Given the description of an element on the screen output the (x, y) to click on. 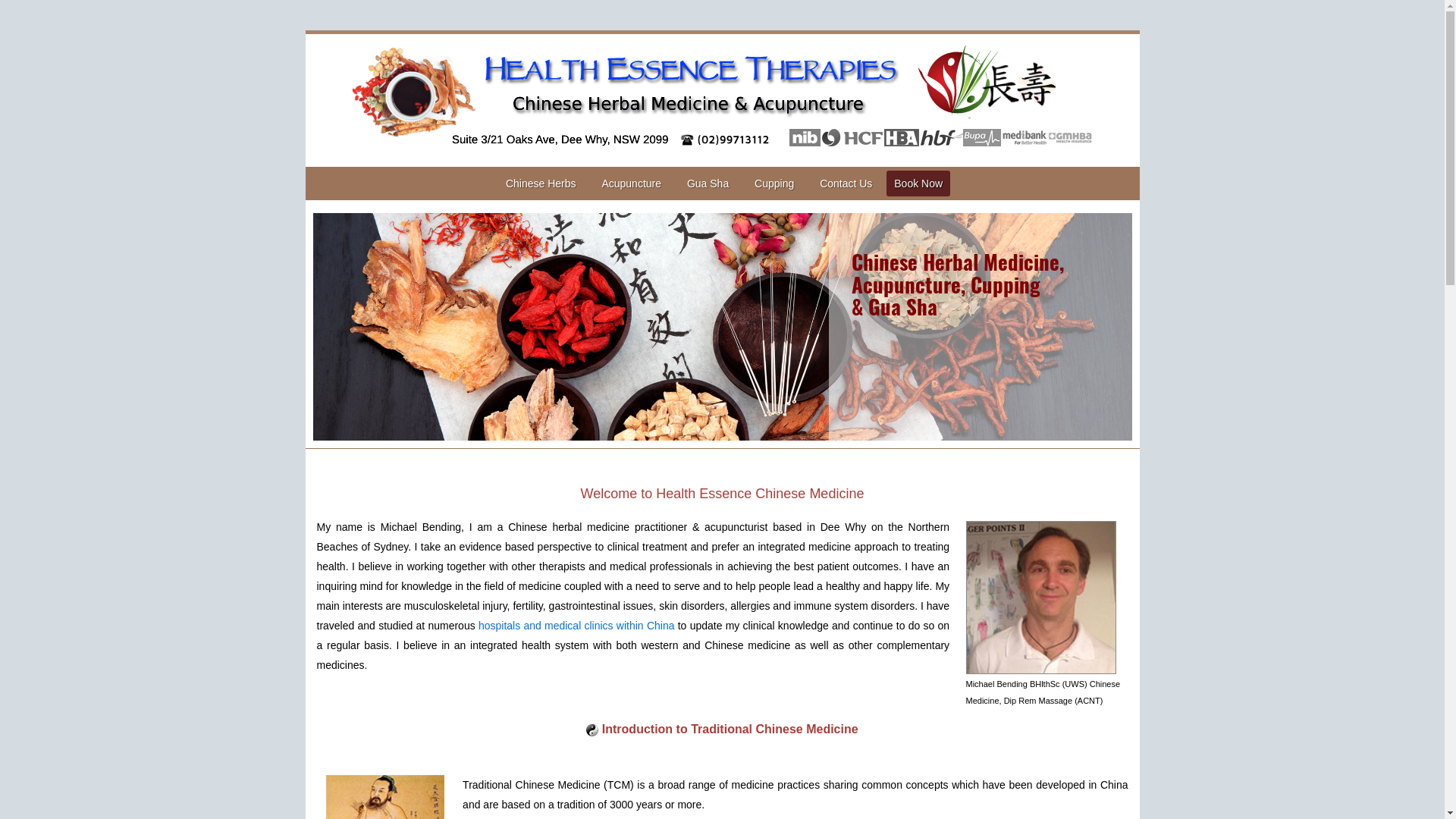
Acupuncture Element type: text (630, 183)
Gua Sha Element type: text (707, 183)
hospitals and medical clinics within China Element type: text (577, 625)
Book Now Element type: text (918, 183)
Health-essence.com.au homepage Element type: hover (721, 100)
Chinese Herbs Element type: text (540, 183)
Cupping Element type: text (774, 183)
Contact Us Element type: text (845, 183)
